Given the description of an element on the screen output the (x, y) to click on. 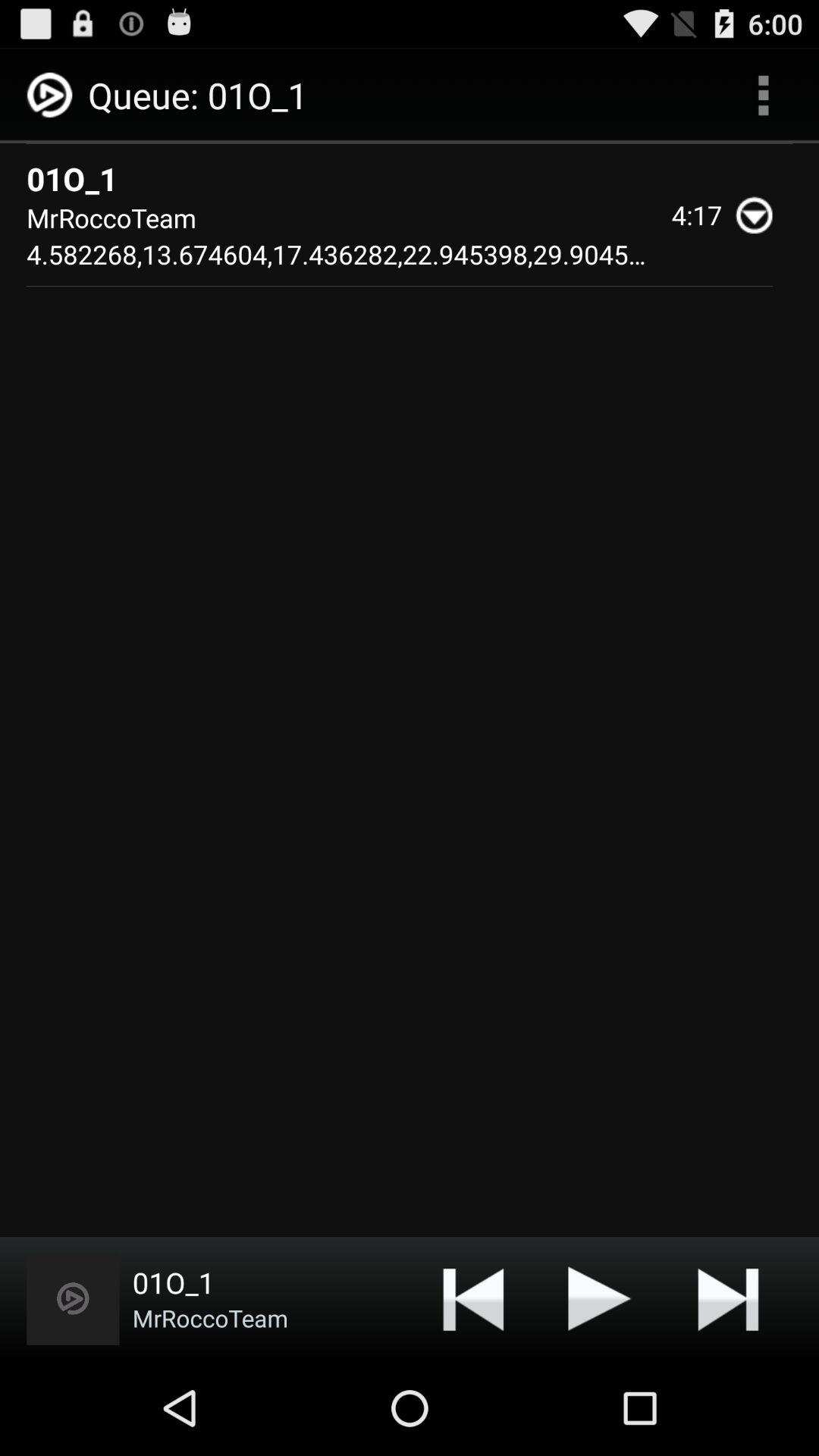
click the icon below mrroccoteam 4 582268 icon (600, 1298)
